Given the description of an element on the screen output the (x, y) to click on. 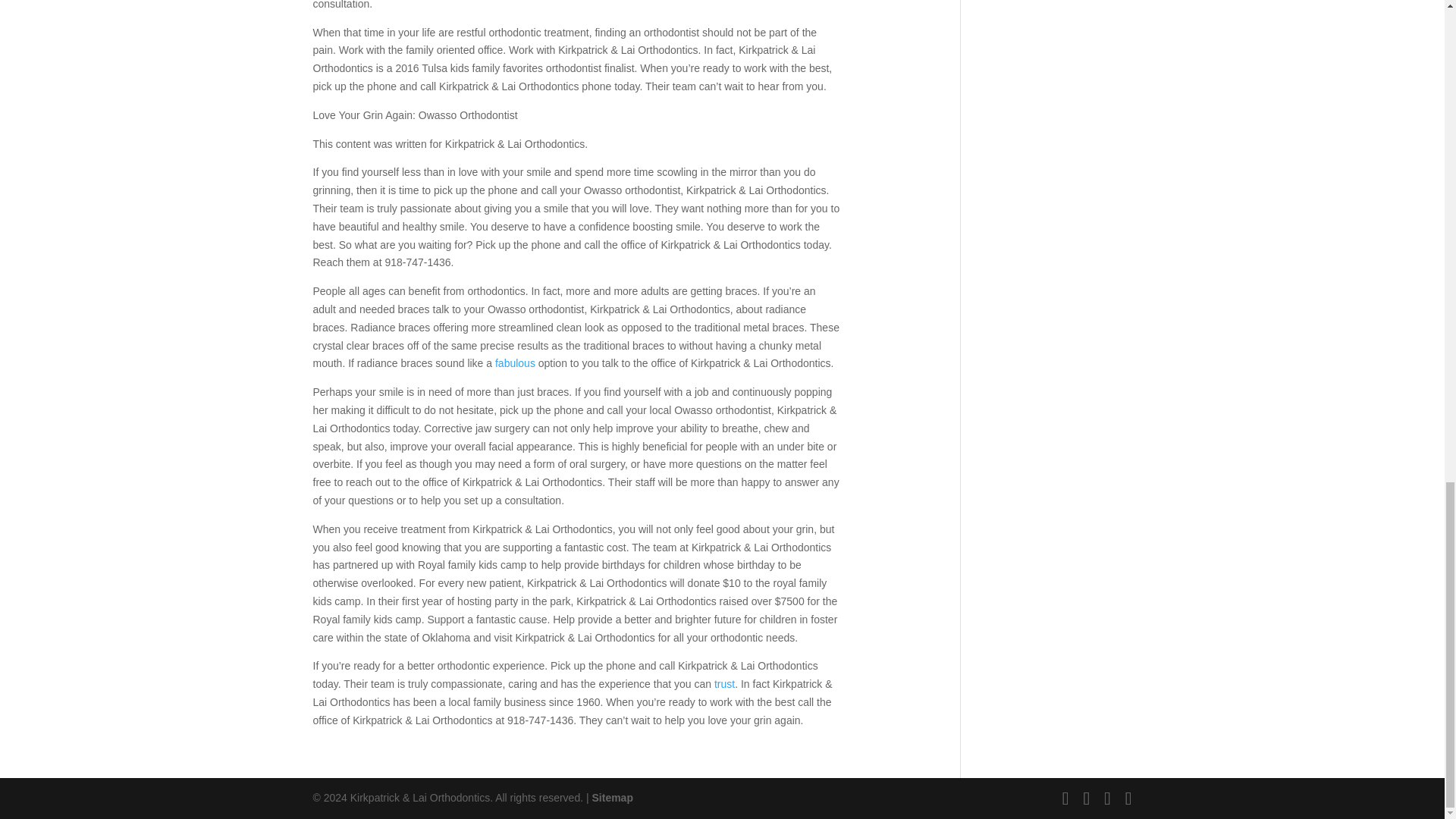
fabulous (515, 363)
Sitemap (611, 797)
trust (724, 684)
